Given the description of an element on the screen output the (x, y) to click on. 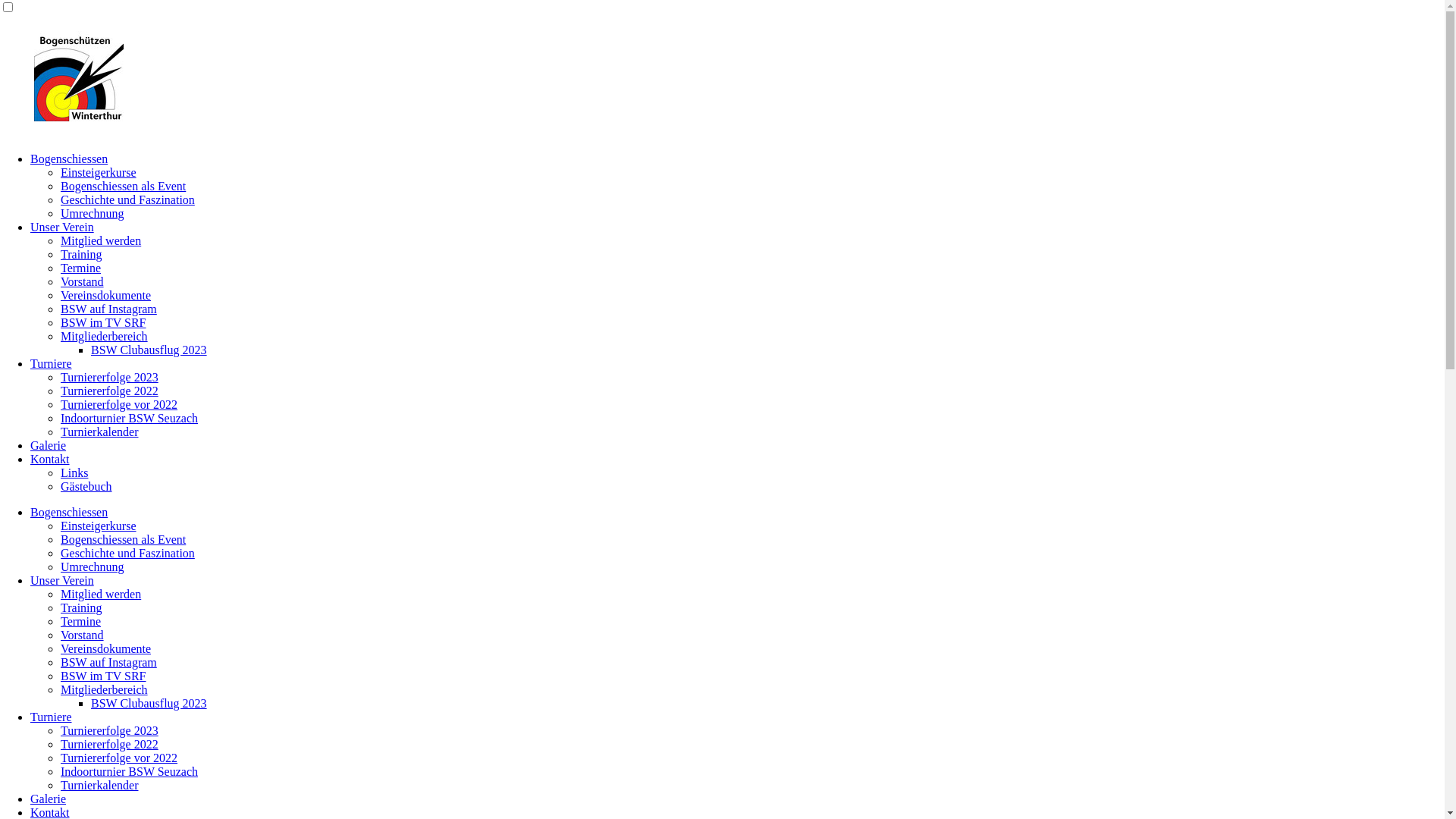
Turnierkalender Element type: text (99, 784)
Einsteigerkurse Element type: text (98, 172)
BSW Clubausflug 2023 Element type: text (149, 349)
Turniererfolge 2022 Element type: text (109, 743)
Bogenschiessen als Event Element type: text (122, 539)
Vorstand Element type: text (81, 281)
Indoorturnier BSW Seuzach Element type: text (128, 771)
Links Element type: text (73, 472)
Mitglied werden Element type: text (100, 593)
Mitglied werden Element type: text (100, 240)
Unser Verein Element type: text (62, 580)
Turniererfolge 2023 Element type: text (109, 376)
Bogenschiessen Element type: text (68, 158)
BSW im TV SRF Element type: text (103, 675)
Turniererfolge vor 2022 Element type: text (118, 404)
Termine Element type: text (80, 267)
Kontakt Element type: text (49, 458)
Unser Verein Element type: text (62, 226)
Bogenschiessen als Event Element type: text (122, 185)
Einsteigerkurse Element type: text (98, 525)
Turniererfolge 2022 Element type: text (109, 390)
Umrechnung Element type: text (92, 213)
Bogenschiessen Element type: text (68, 511)
BSW im TV SRF Element type: text (103, 322)
Mitgliederbereich Element type: text (103, 689)
Termine Element type: text (80, 621)
Turnierkalender Element type: text (99, 431)
Training Element type: text (81, 253)
Geschichte und Faszination Element type: text (127, 199)
Vereinsdokumente Element type: text (105, 648)
Turniere Element type: text (51, 363)
Vorstand Element type: text (81, 634)
BSW auf Instagram Element type: text (108, 661)
Mitgliederbereich Element type: text (103, 335)
Geschichte und Faszination Element type: text (127, 552)
Turniere Element type: text (51, 716)
Vereinsdokumente Element type: text (105, 294)
Training Element type: text (81, 607)
Turniererfolge 2023 Element type: text (109, 730)
BSW Clubausflug 2023 Element type: text (149, 702)
Indoorturnier BSW Seuzach Element type: text (128, 417)
Galerie Element type: text (47, 798)
BSW auf Instagram Element type: text (108, 308)
Umrechnung Element type: text (92, 566)
Galerie Element type: text (47, 445)
Turniererfolge vor 2022 Element type: text (118, 757)
